Given the description of an element on the screen output the (x, y) to click on. 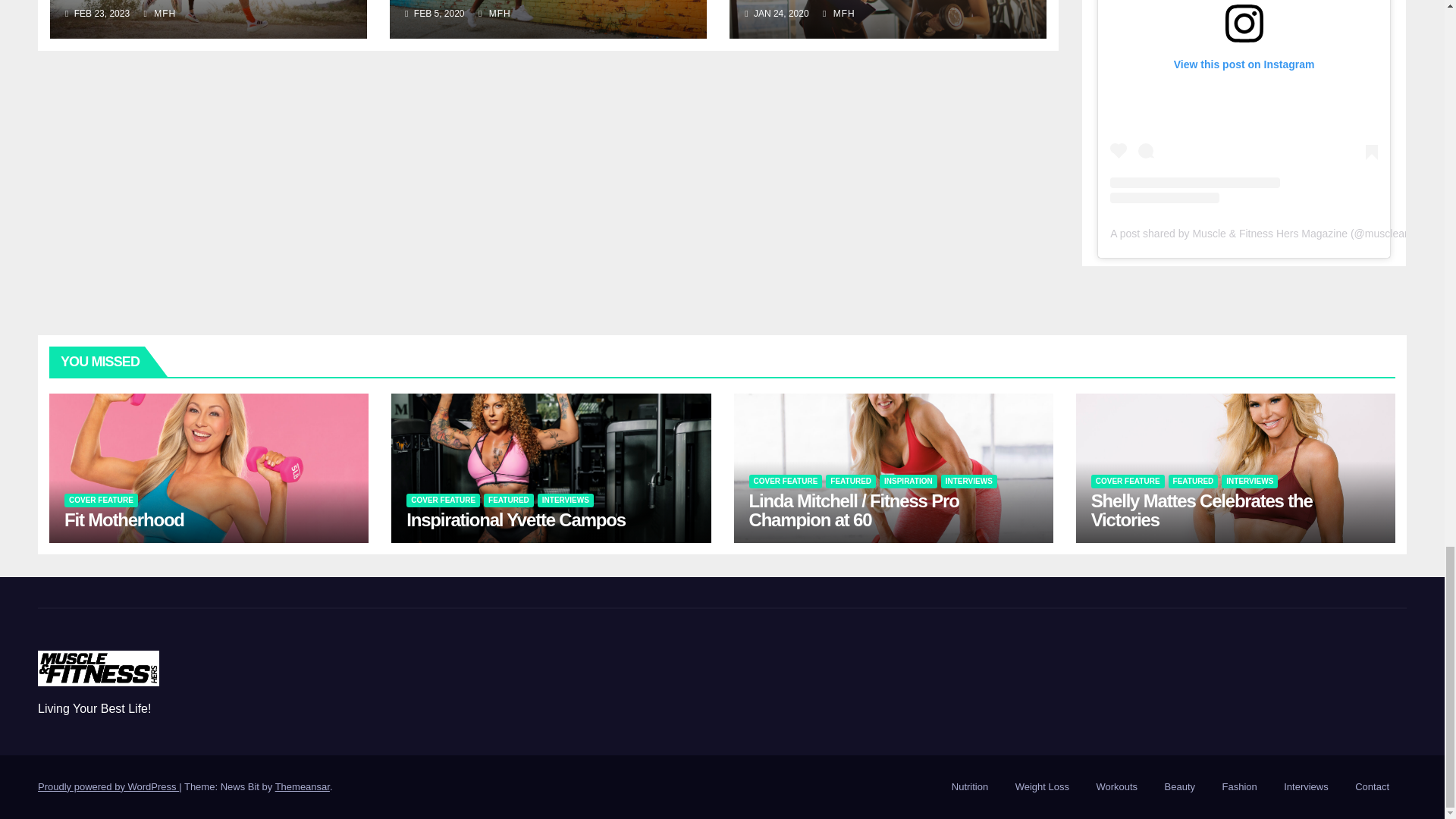
Weight Loss (1042, 786)
Permalink to: Fit Motherhood (124, 519)
Nutrition (969, 786)
Permalink to: Shelly Mattes Celebrates the Victories (1201, 509)
Permalink to: Inspirational Yvette Campos (516, 519)
